Given the description of an element on the screen output the (x, y) to click on. 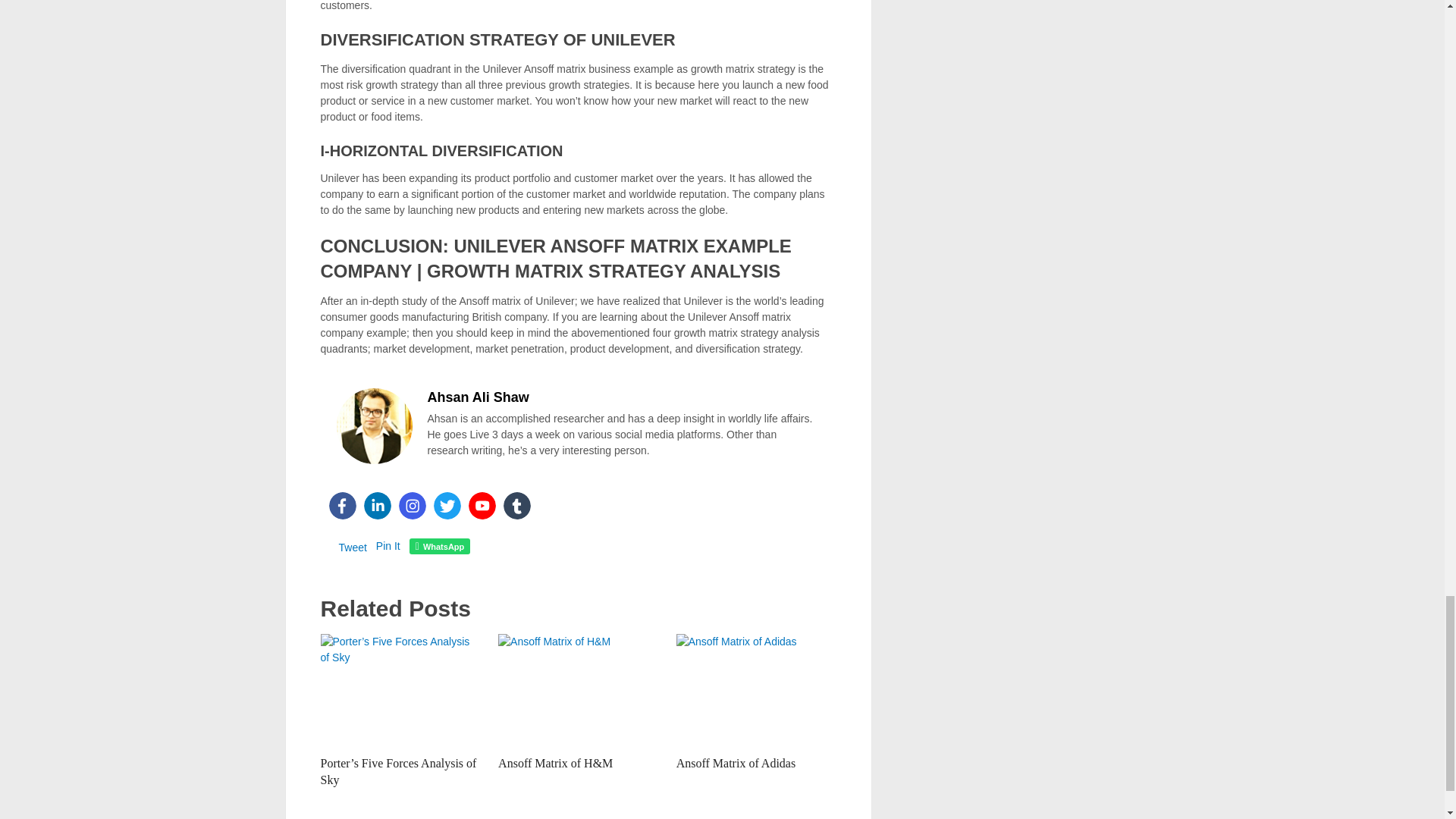
Pin It (387, 545)
Ansoff Matrix of Adidas  (737, 762)
Ahsan Ali Shaw (478, 396)
Facebook (342, 505)
Instagram (412, 505)
Tumblr (517, 505)
Twitter (447, 505)
Linkedin (377, 505)
Youtube (482, 505)
